Given the description of an element on the screen output the (x, y) to click on. 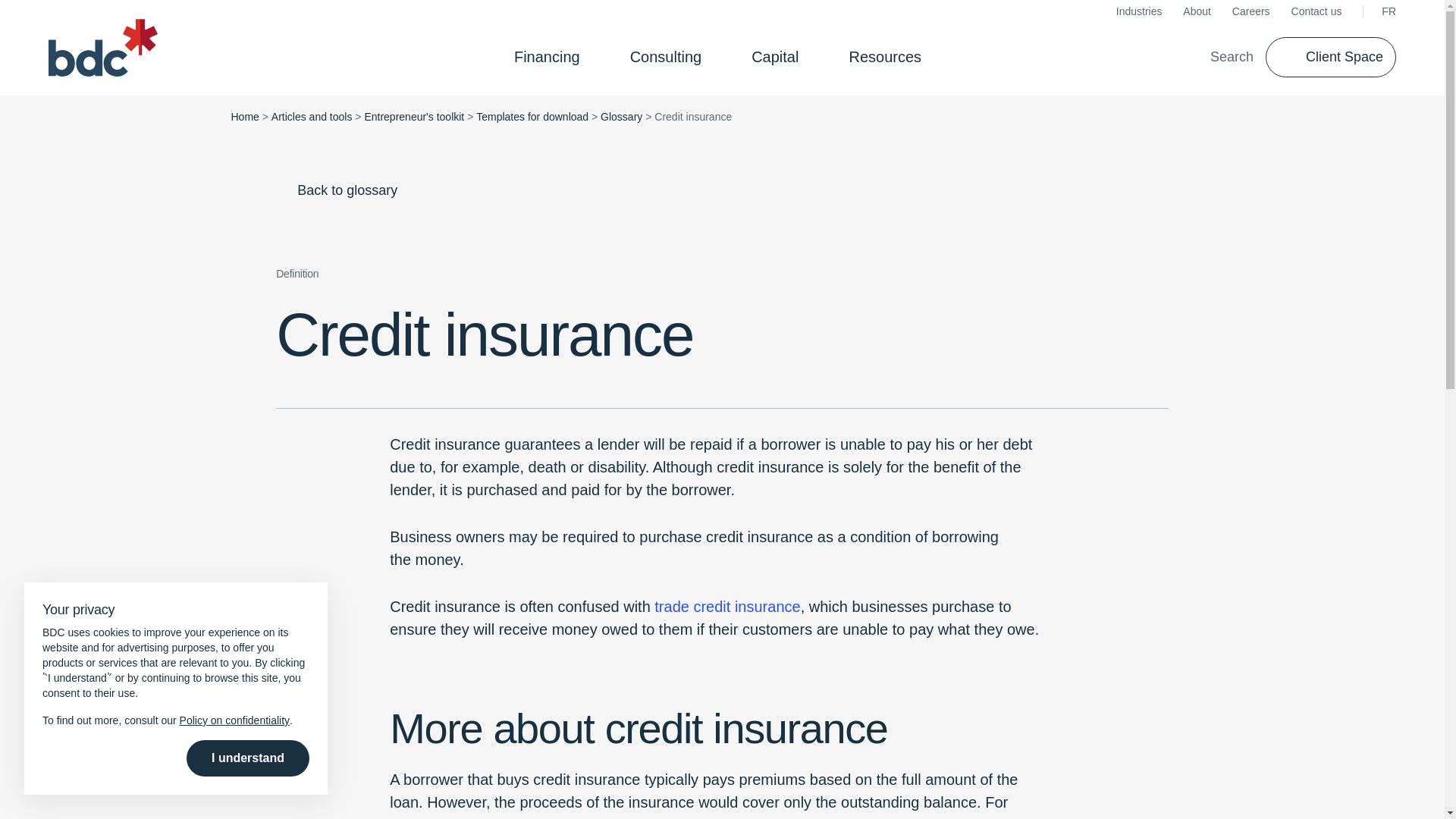
Trade credit insurance (726, 606)
Consulting (670, 56)
Capital (779, 56)
Client Space (1330, 56)
Search (1220, 56)
Financing (551, 56)
